Given the description of an element on the screen output the (x, y) to click on. 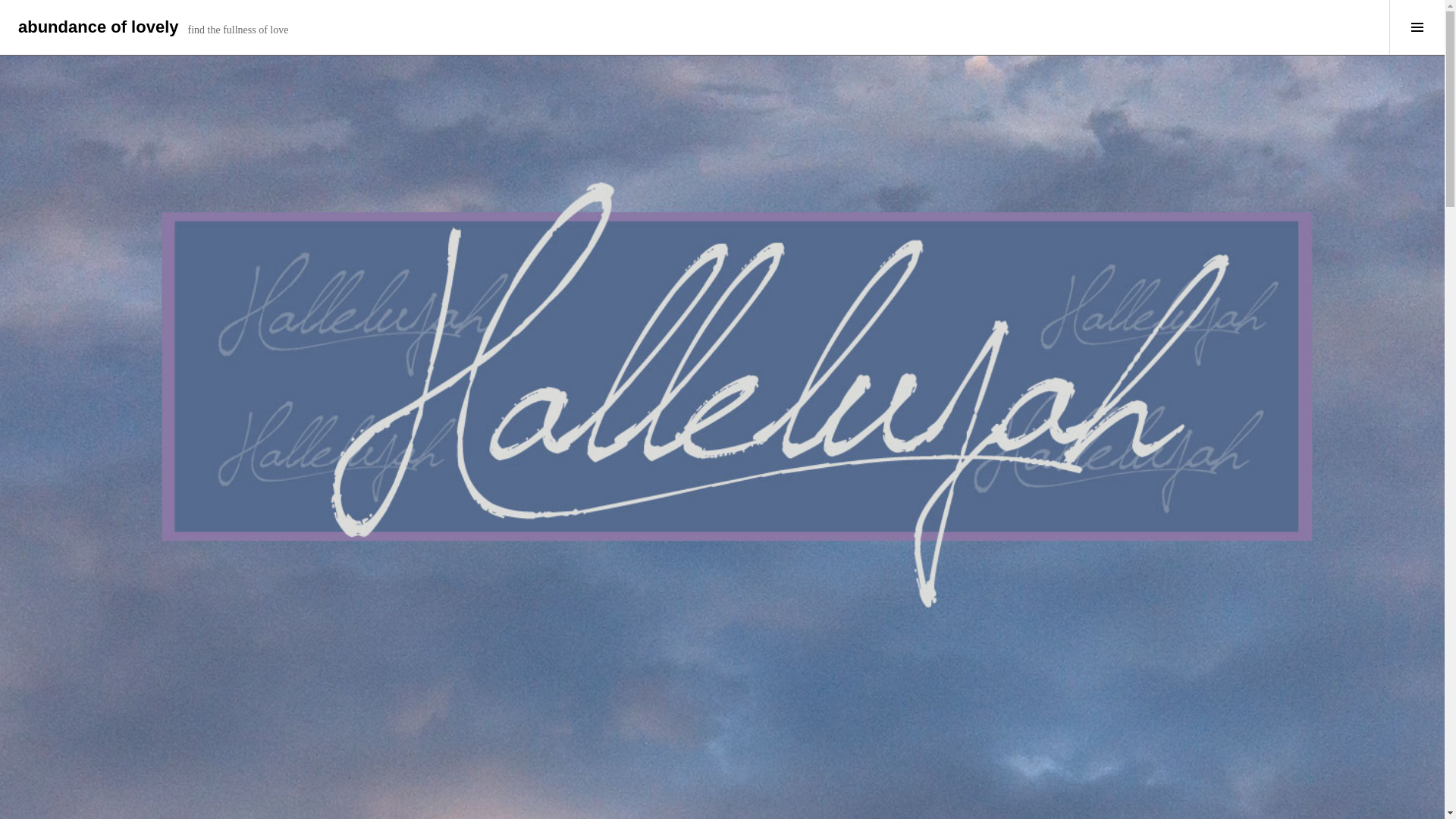
abundance of lovely (98, 26)
